Given the description of an element on the screen output the (x, y) to click on. 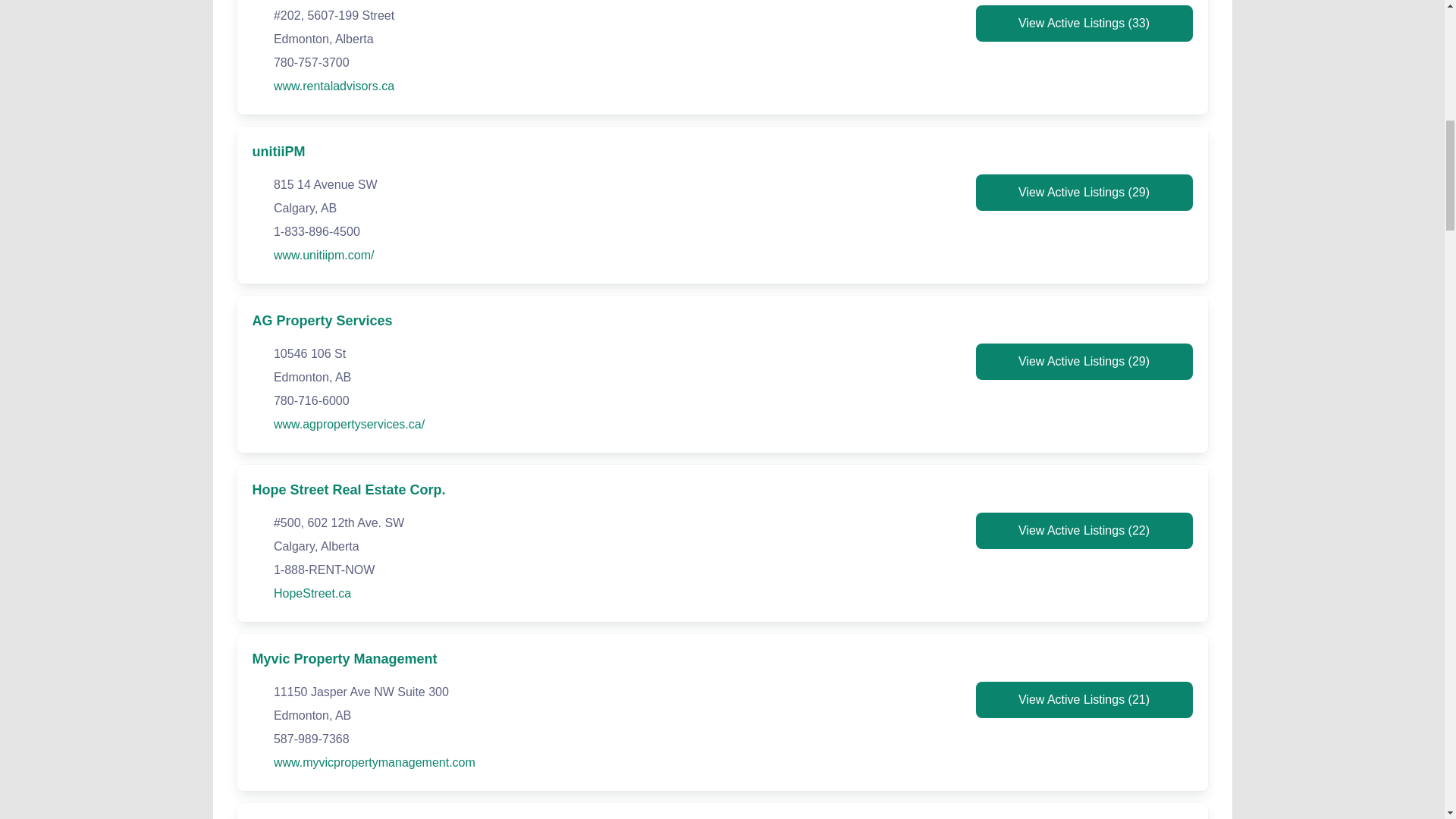
View Active AG Property Services   Listings (1083, 361)
www.rentaladvisors.ca (333, 85)
View Active unitiiPM  Listings (1083, 192)
View Active Rental Advisors  Listings (1083, 22)
View Active Hope Street  Listings (1083, 530)
